Given the description of an element on the screen output the (x, y) to click on. 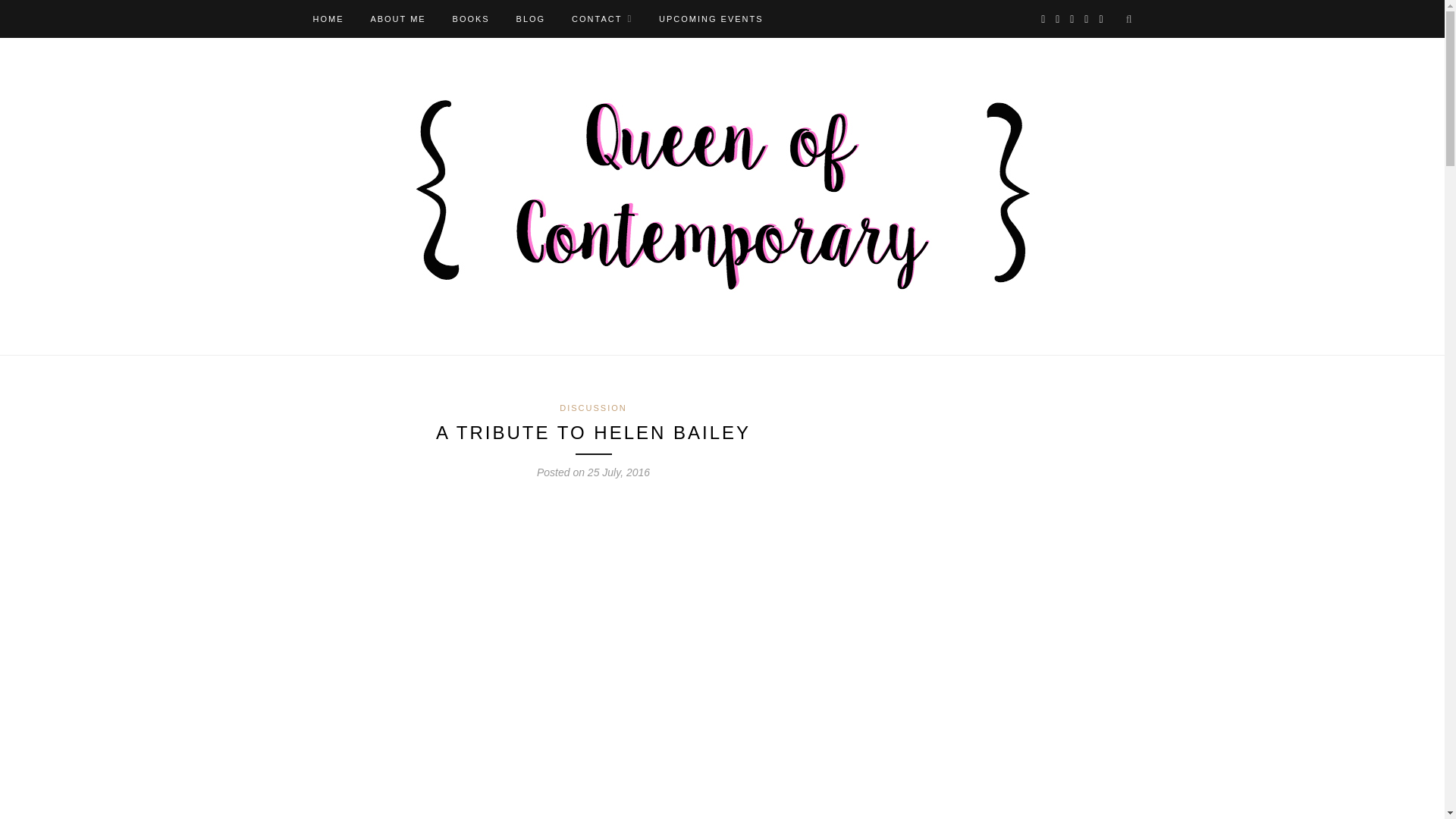
BOOKS (470, 18)
ABOUT ME (397, 18)
DISCUSSION (592, 407)
UPCOMING EVENTS (710, 18)
CONTACT (601, 18)
